Given the description of an element on the screen output the (x, y) to click on. 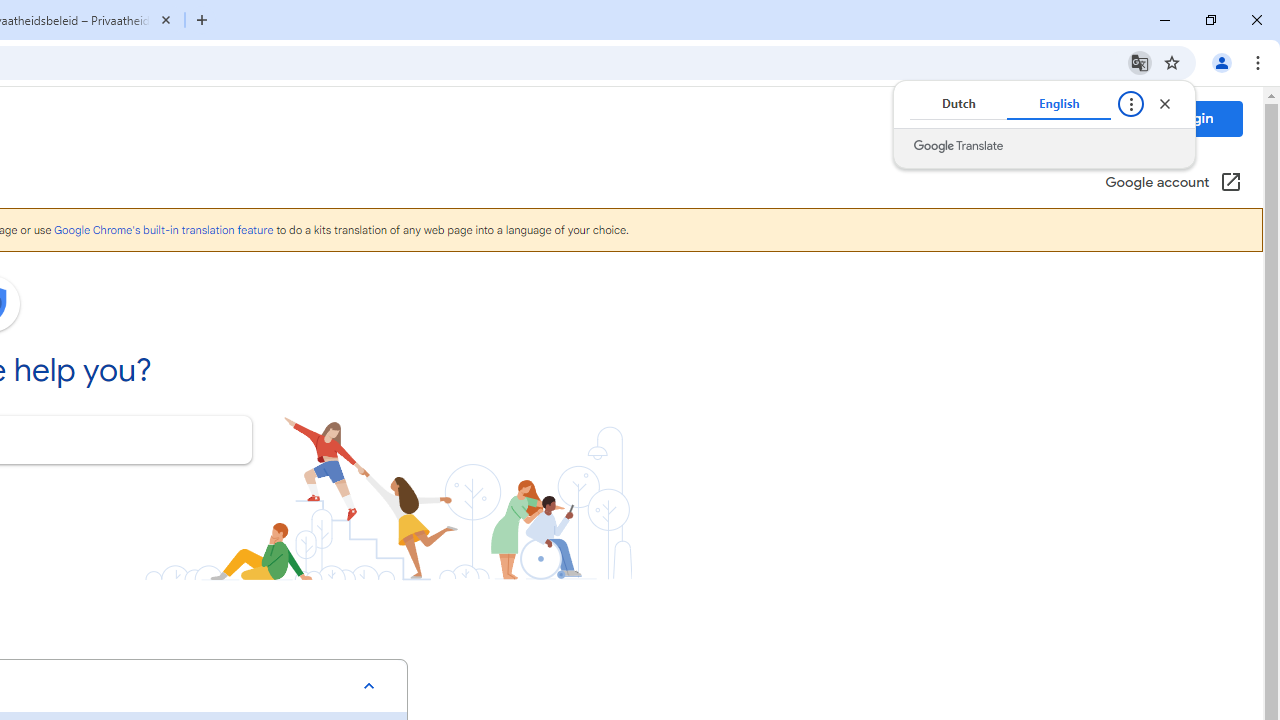
Translate options (1130, 103)
Translate this page (1139, 62)
Dutch (958, 103)
Google Chrome's built-in translation feature (163, 229)
English (1059, 103)
